Given the description of an element on the screen output the (x, y) to click on. 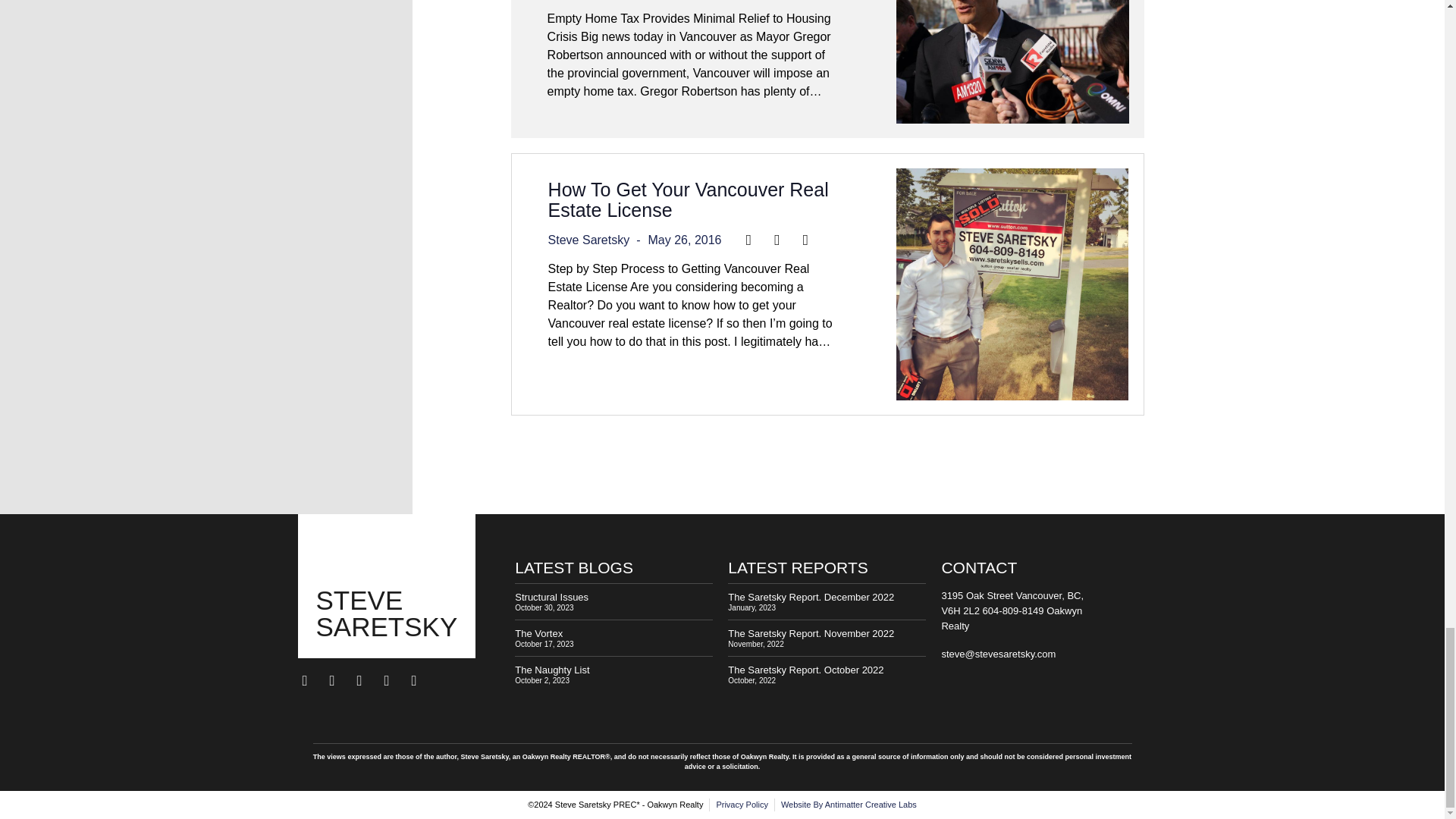
LATEST BLOGS (574, 567)
How To Get Your Vancouver Real Estate License (688, 199)
October 30, 2023 (544, 607)
Structural Issues (551, 596)
